Given the description of an element on the screen output the (x, y) to click on. 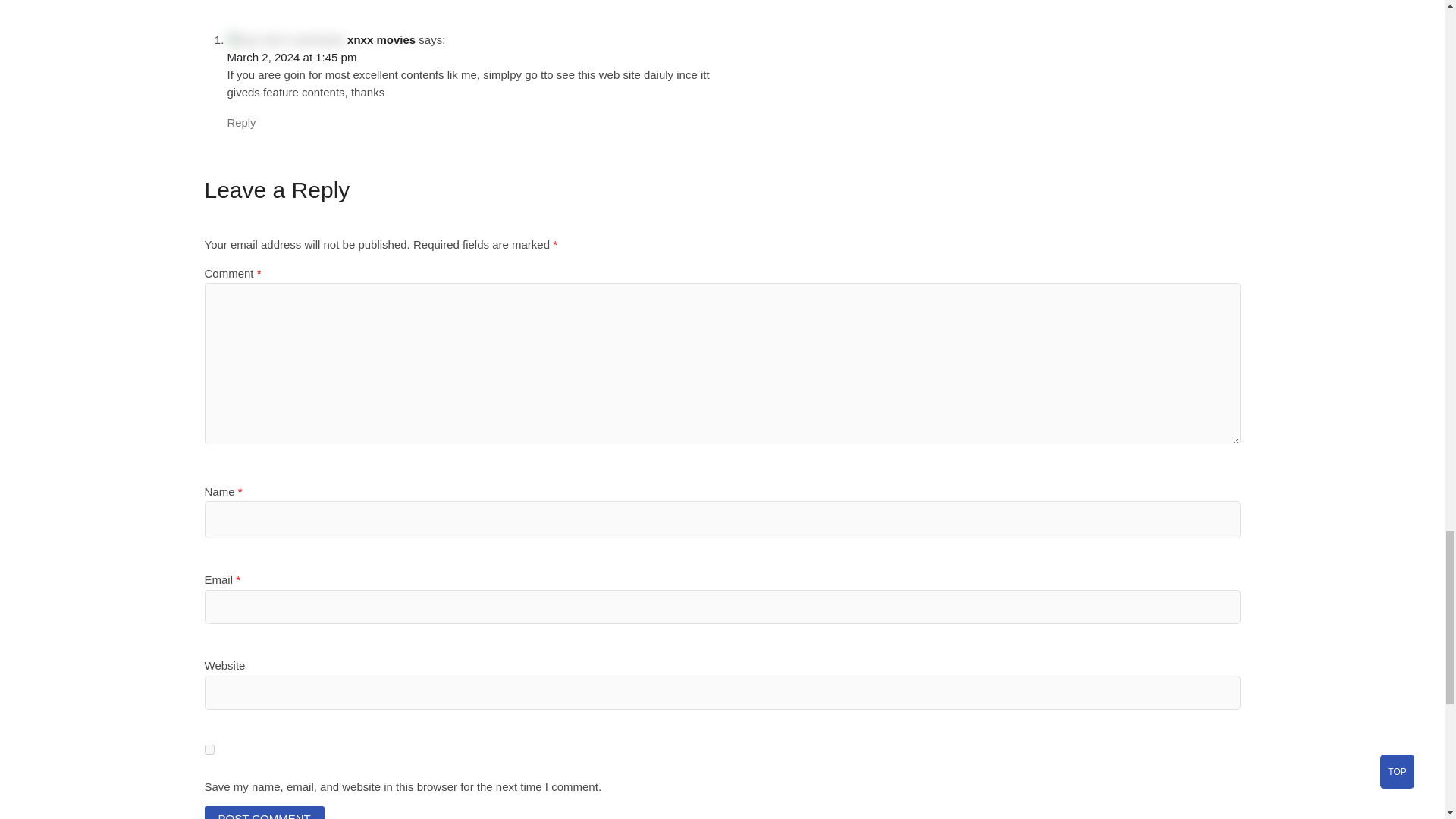
Post Comment (264, 812)
yes (209, 749)
